Given the description of an element on the screen output the (x, y) to click on. 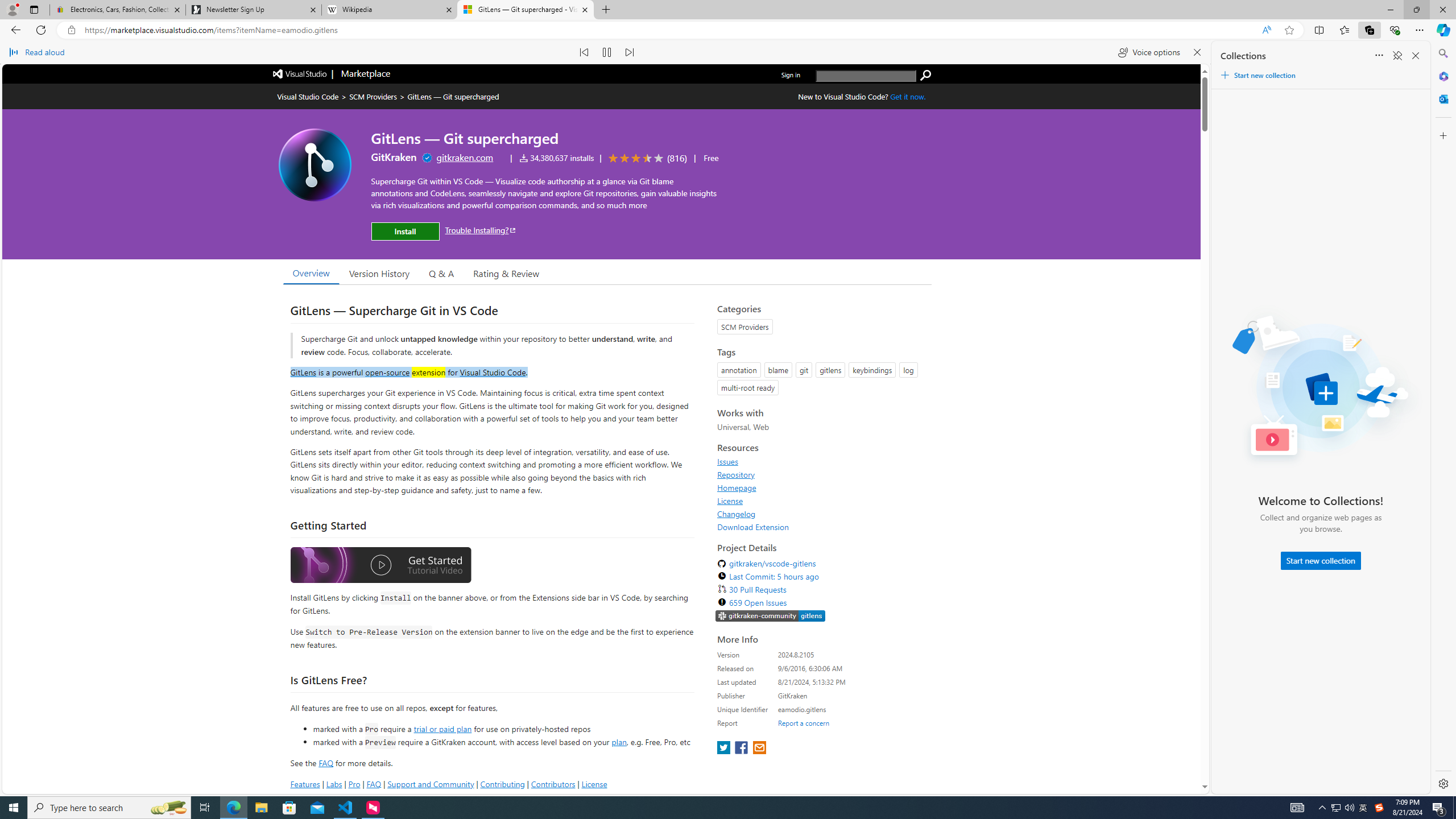
Rating & Review (505, 272)
Watch the GitLens Getting Started video (380, 565)
Unpin Collections (1397, 55)
plan (618, 741)
Newsletter Sign Up (253, 9)
Read next paragraph (628, 52)
Visual Studio logo (300, 72)
